Given the description of an element on the screen output the (x, y) to click on. 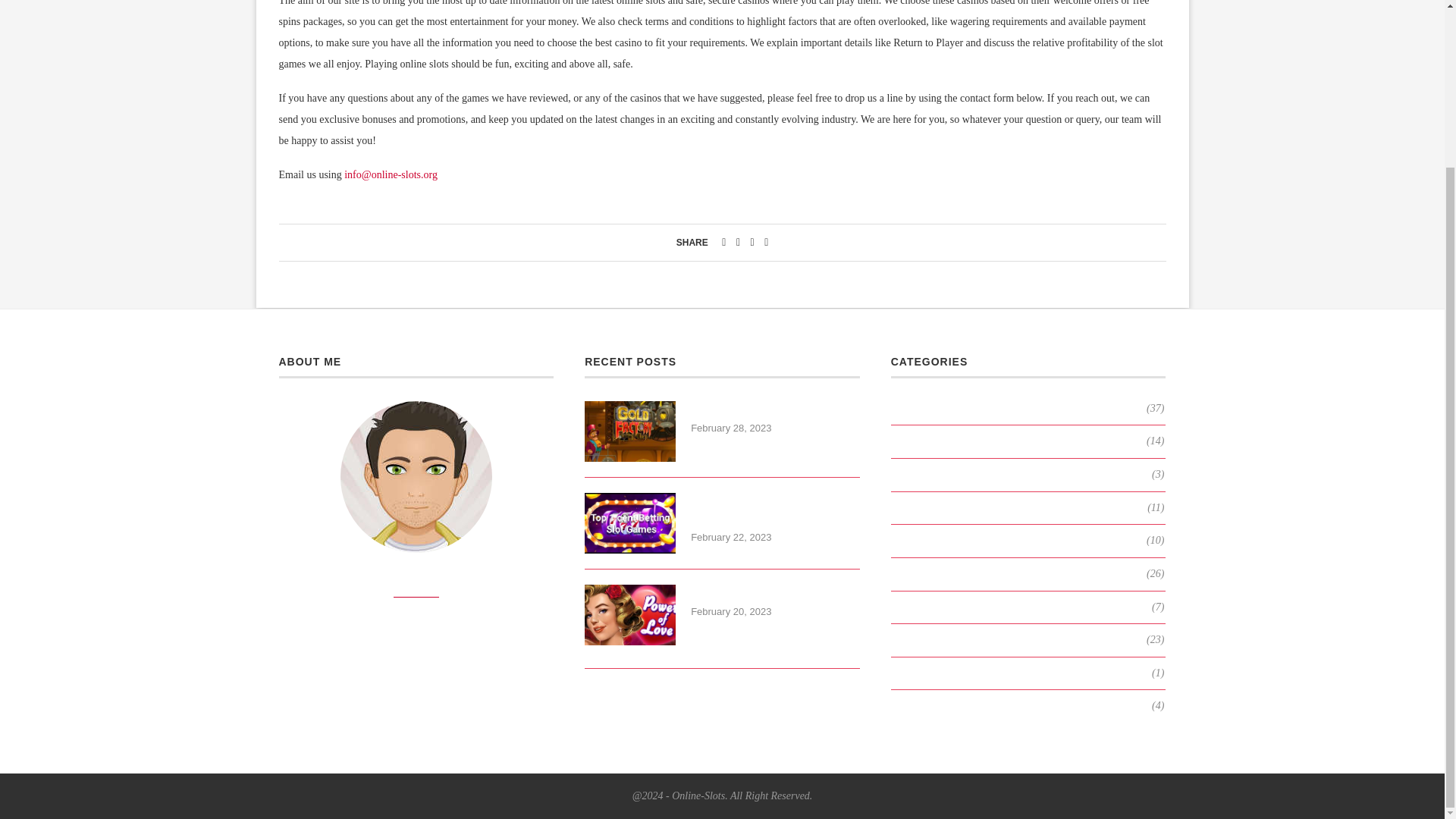
Power of Love Slot Review (630, 614)
Power of Love Slot Review (775, 592)
Top 1 cent Betting Slot games (775, 510)
Gold Factory (775, 409)
Top 1 cent Betting Slot games (630, 523)
Gold Factory (630, 431)
